Given the description of an element on the screen output the (x, y) to click on. 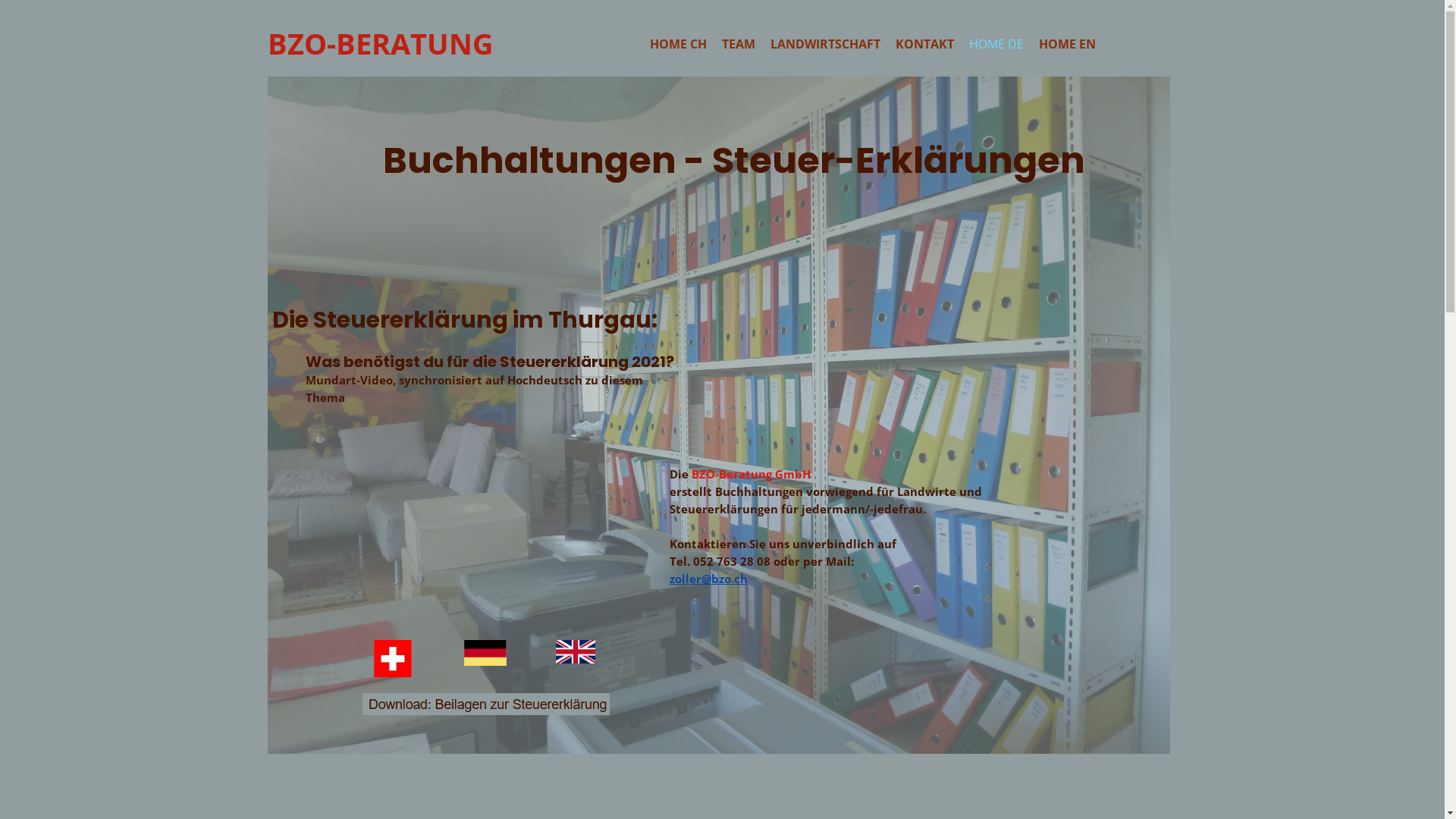
TEAM Element type: text (738, 43)
HOME CH Element type: text (677, 43)
HOME EN Element type: text (1066, 43)
KONTAKT Element type: text (923, 43)
zoller@bzo.ch Element type: text (707, 578)
YouTube video player Element type: hover (484, 529)
HOME DE Element type: text (996, 43)
LANDWIRTSCHAFT Element type: text (825, 43)
